Given the description of an element on the screen output the (x, y) to click on. 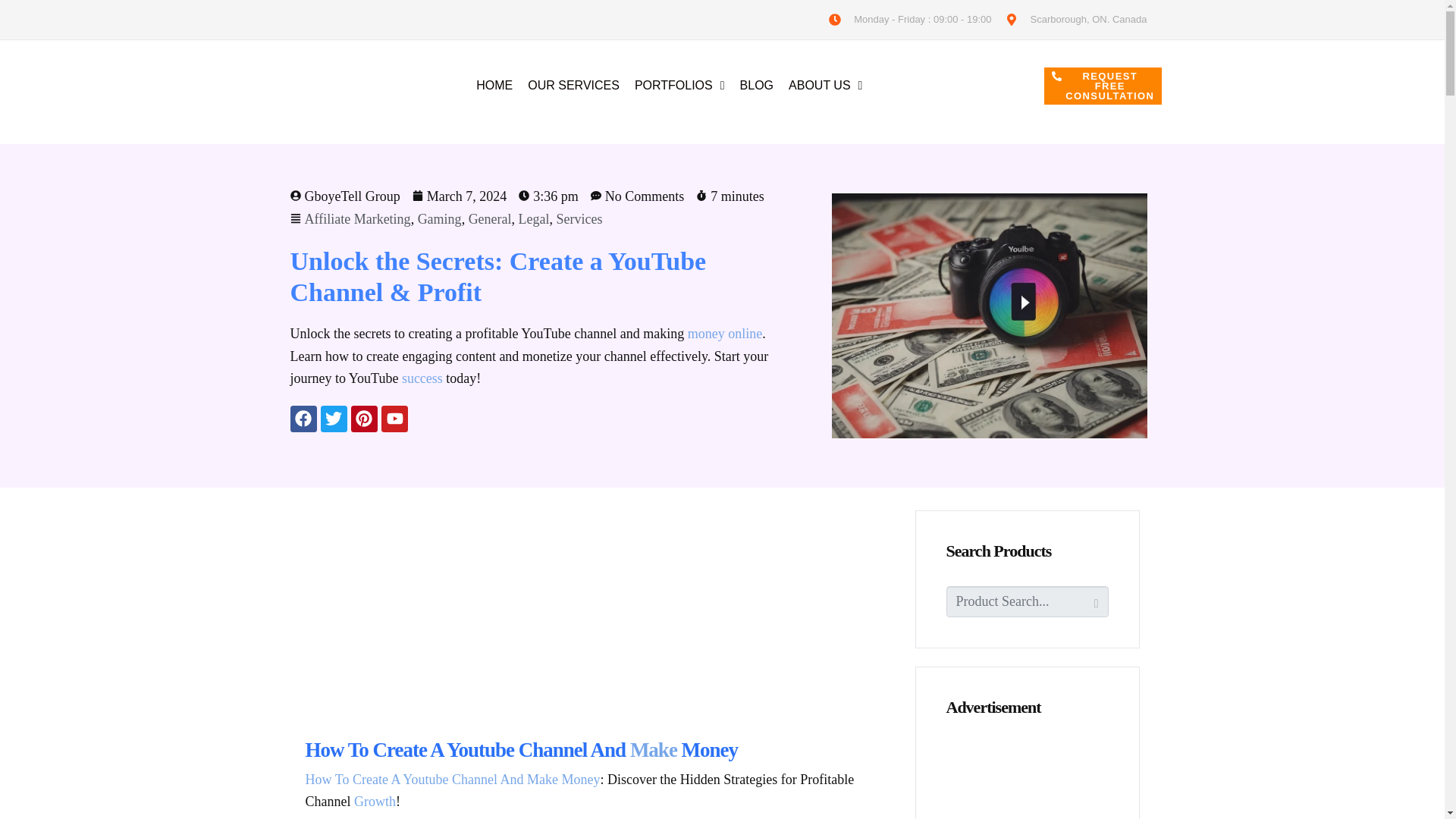
Growth (374, 801)
PORTFOLIOS (679, 85)
ABOUT US (824, 85)
Unlock the Secrets (391, 261)
Posts tagged with growth (374, 801)
Cf2183F9 007B 42Cf 8D40 3A4Ddd431647 (989, 315)
OUR SERVICES (573, 85)
Scarborough, ON. Canada (1075, 19)
Posts tagged with Unlock the Secrets (391, 261)
Posts tagged with success (421, 378)
BLOG (756, 85)
Monday - Friday : 09:00 - 19:00 (909, 19)
online (744, 333)
